Given the description of an element on the screen output the (x, y) to click on. 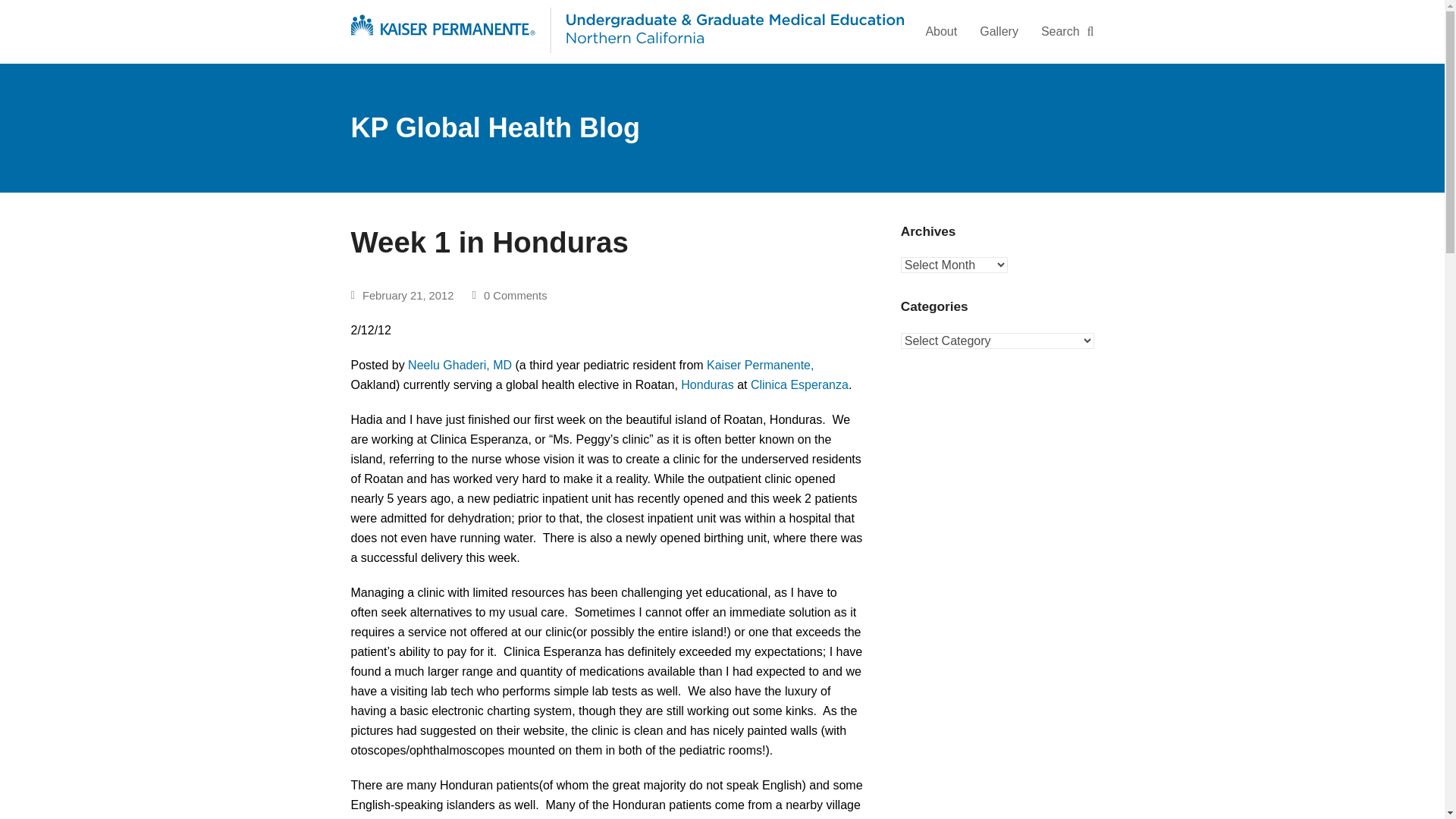
0 Comments (515, 295)
Clinica Esperanza (799, 384)
About (941, 31)
Honduras  (708, 384)
0 Comments (509, 295)
Neelu Ghaderi, MD (461, 364)
Search (1067, 31)
Gallery (998, 31)
Kaiser Permanente, (759, 364)
